Given the description of an element on the screen output the (x, y) to click on. 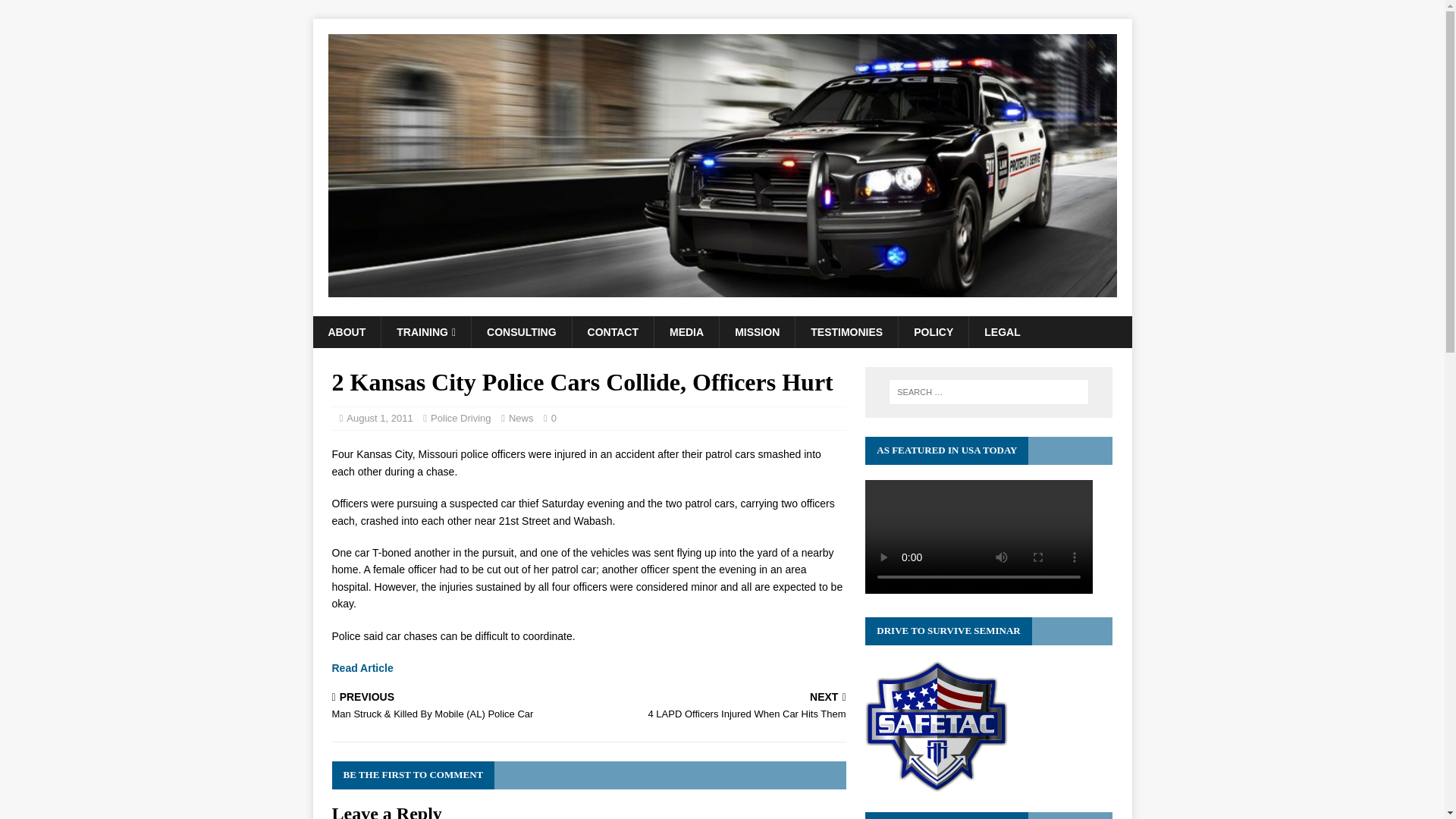
TRAINING (720, 706)
LEGAL (425, 332)
TESTIMONIES (1001, 332)
POLICY (846, 332)
ABOUT (933, 332)
CONTACT (346, 332)
MEDIA (612, 332)
CONSULTING (686, 332)
Read Article (521, 332)
